Given the description of an element on the screen output the (x, y) to click on. 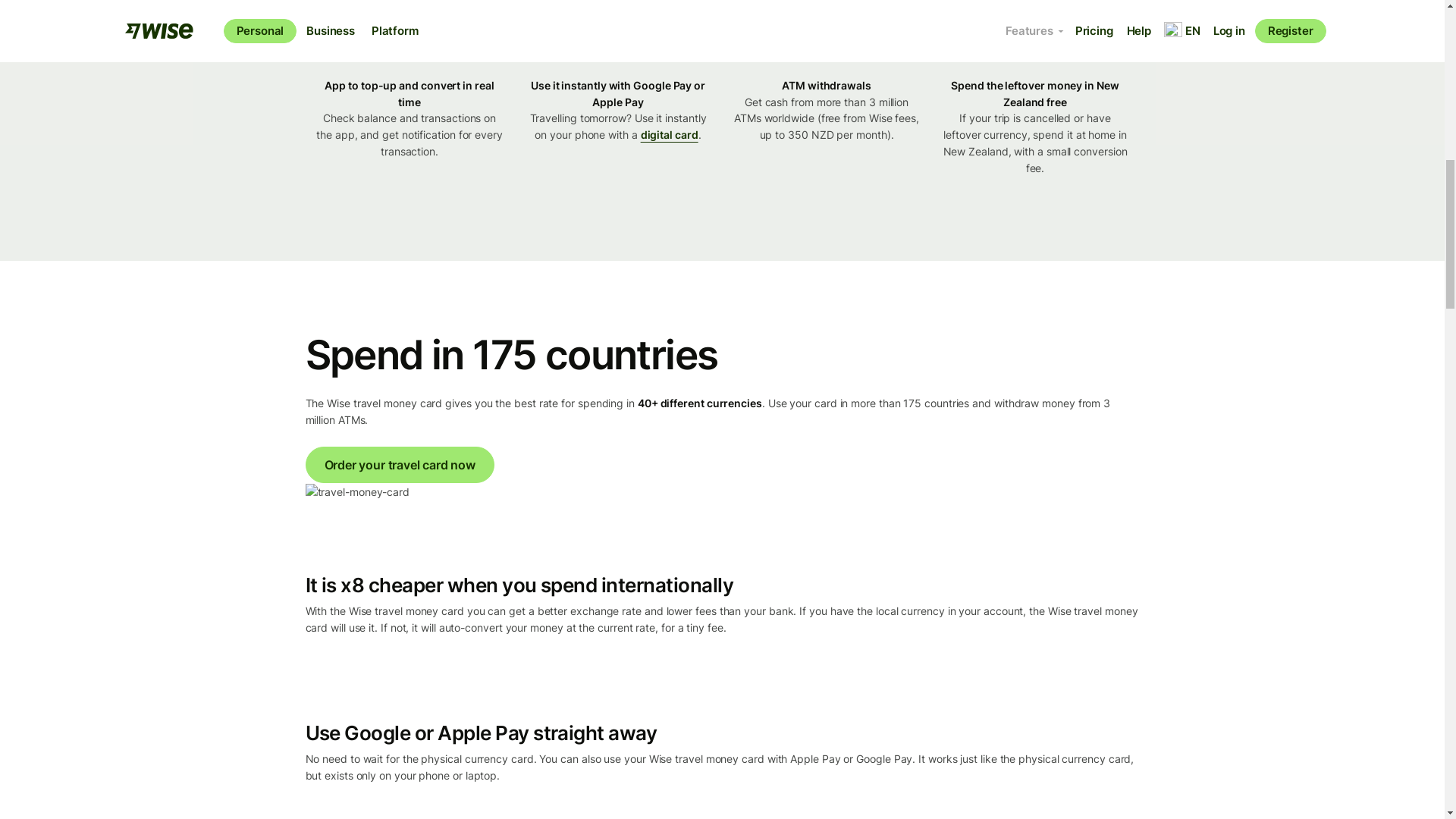
Order your travel card now (398, 464)
digital card (669, 133)
